Given the description of an element on the screen output the (x, y) to click on. 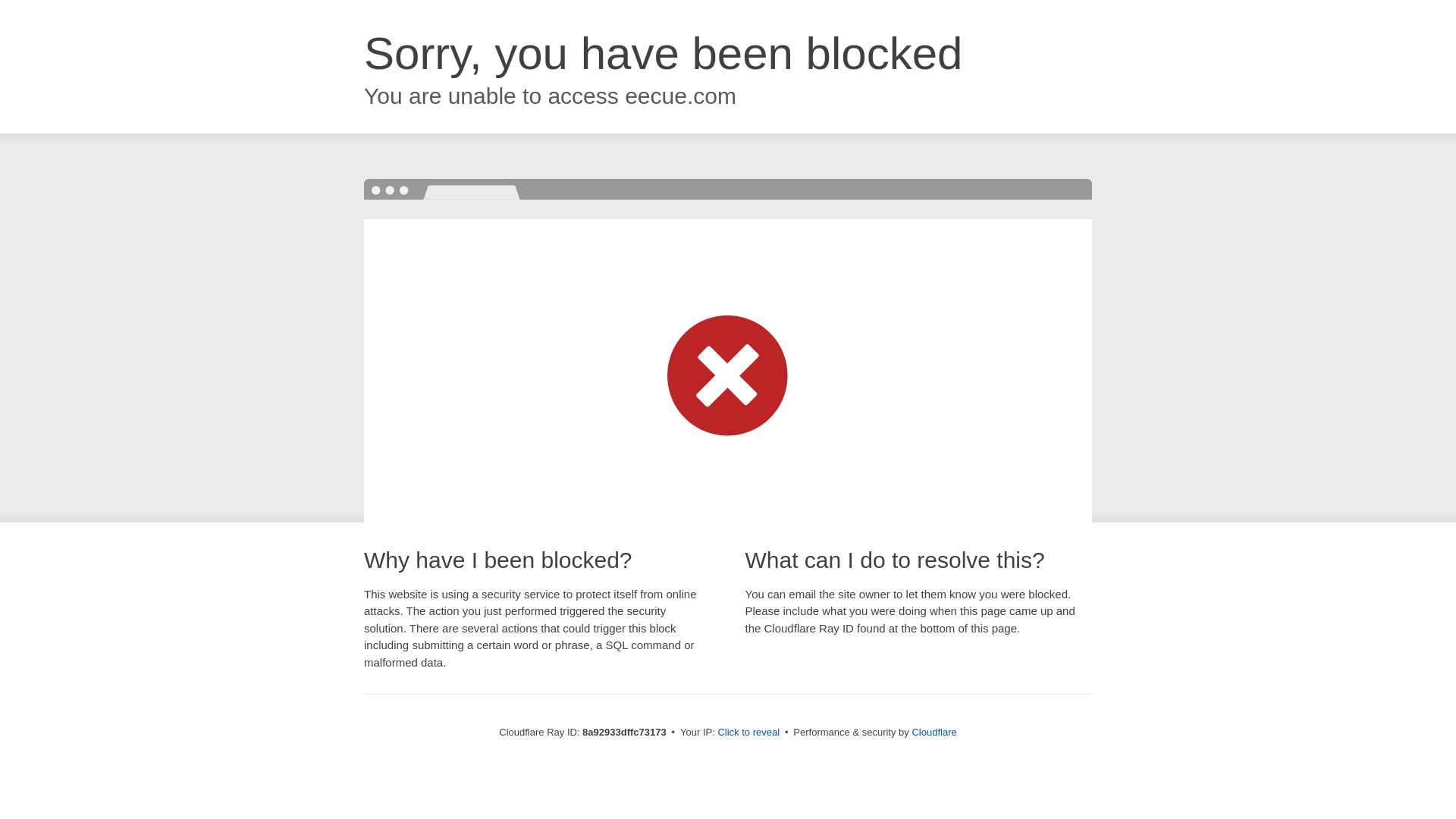
Cloudflare (933, 731)
Click to reveal (747, 732)
